Given the description of an element on the screen output the (x, y) to click on. 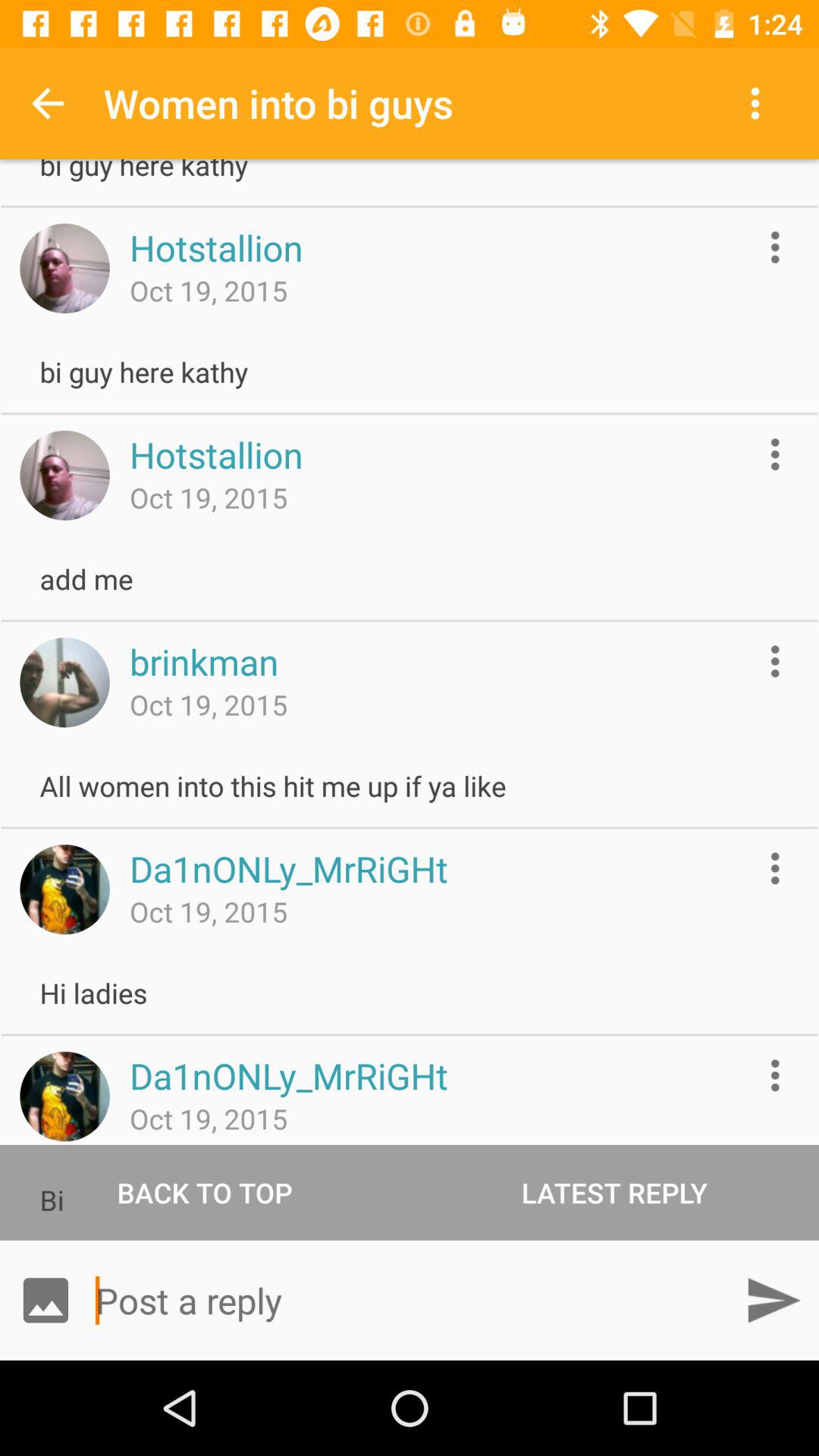
send button (773, 1300)
